Given the description of an element on the screen output the (x, y) to click on. 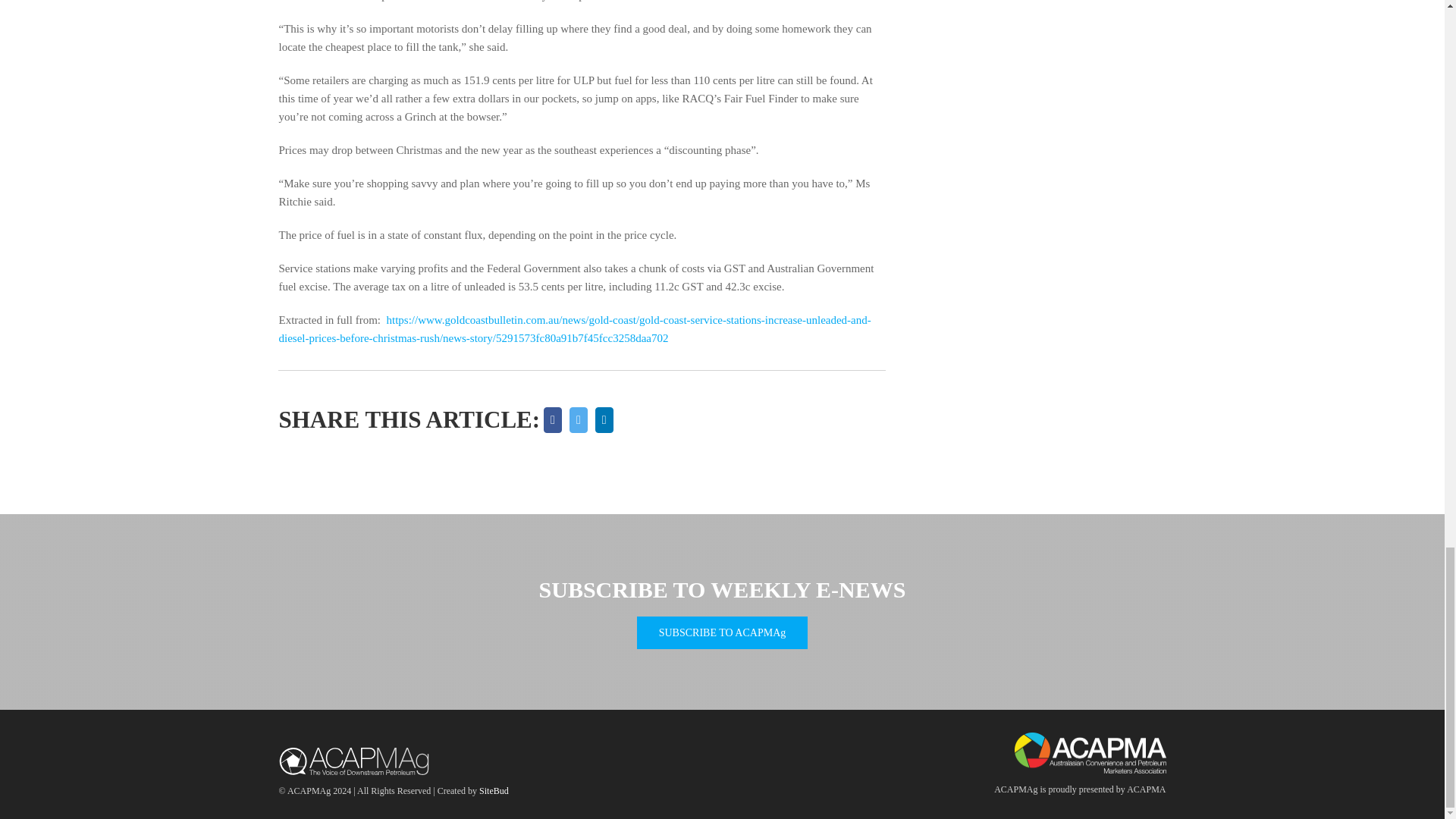
Twitter (578, 419)
Facebook (553, 419)
SiteBud (493, 790)
SUBSCRIBE TO ACAPMAg (722, 632)
LinkedIn (604, 419)
